Given the description of an element on the screen output the (x, y) to click on. 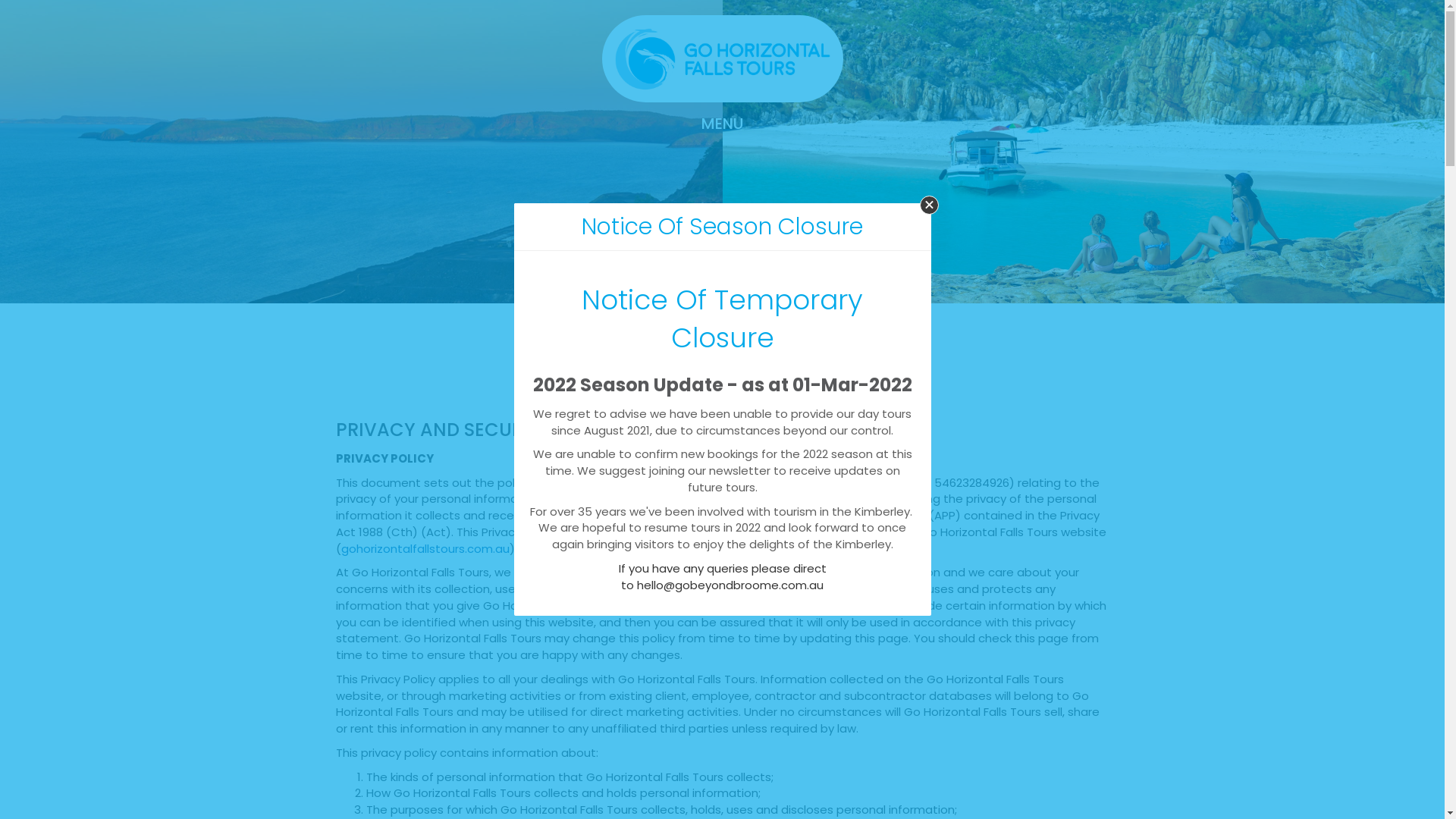
hello@gobeyondbroome.com.au Element type: text (730, 585)
Go Horizontal Falls Tours Logo Element type: hover (722, 58)
MENU Element type: text (722, 123)
gohorizontalfallstours.com.au Element type: text (425, 548)
